Given the description of an element on the screen output the (x, y) to click on. 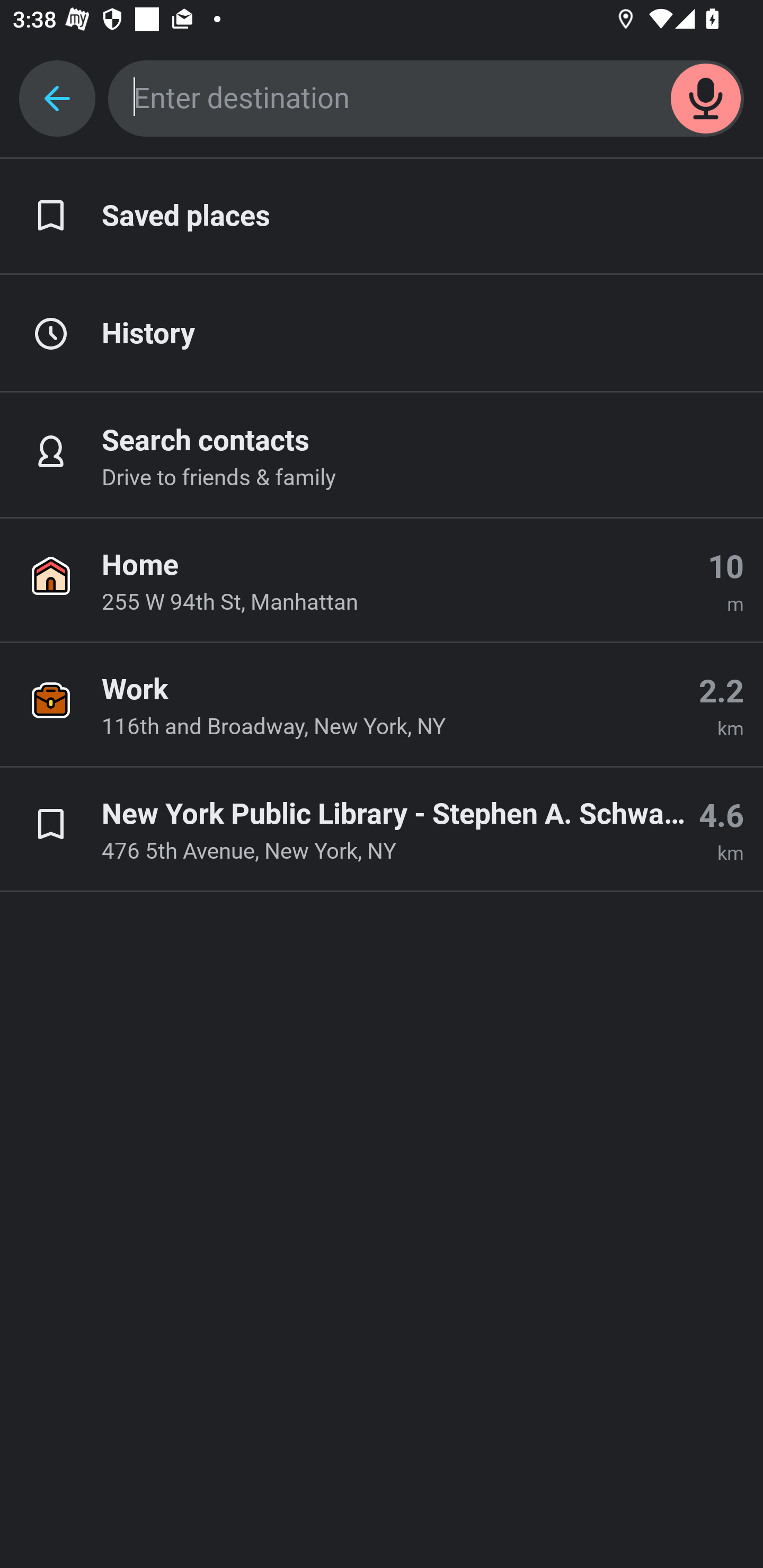
Enter destination sideMenuSearchBox (425, 98)
Saved places (381, 216)
History (381, 334)
ACTION_CELL_ICON Plan a drive ACTION_CELL_TEXT (381, 438)
Search contacts Drive to friends & family (381, 456)
Home 255 W 94th St, Manhattan 10 m (381, 580)
